Given the description of an element on the screen output the (x, y) to click on. 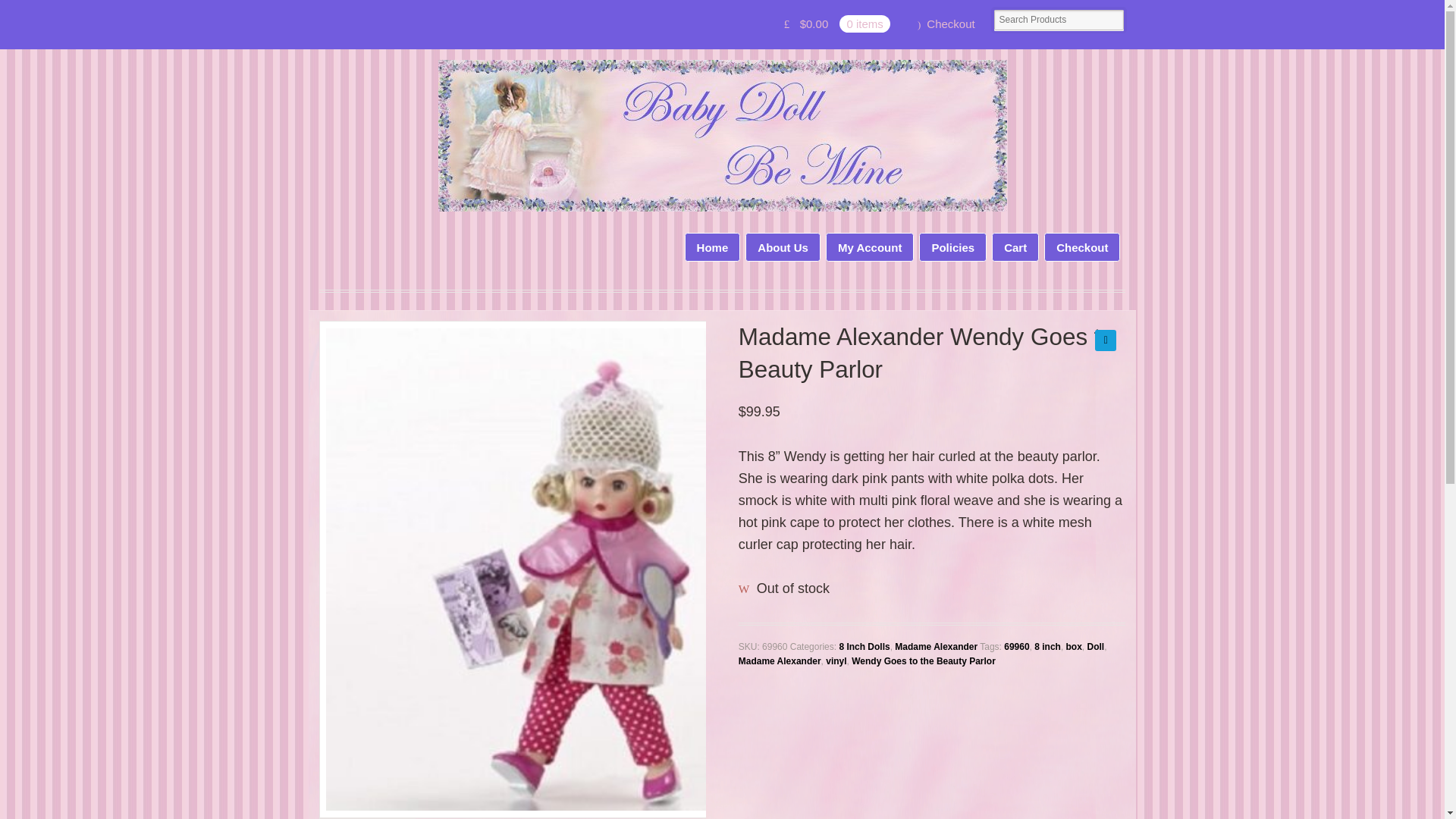
8 Inch Dolls (863, 646)
Policies (952, 247)
Checkout (946, 24)
69960 (1016, 646)
Wendy Goes to the Beauty Parlor (923, 661)
Cart (1015, 247)
Doll (1096, 646)
View your shopping cart (837, 24)
Madame Alexander (935, 646)
Home (712, 247)
Search (65, 10)
vinyl (835, 661)
Madame Alexander (779, 661)
Checkout (1081, 247)
